Given the description of an element on the screen output the (x, y) to click on. 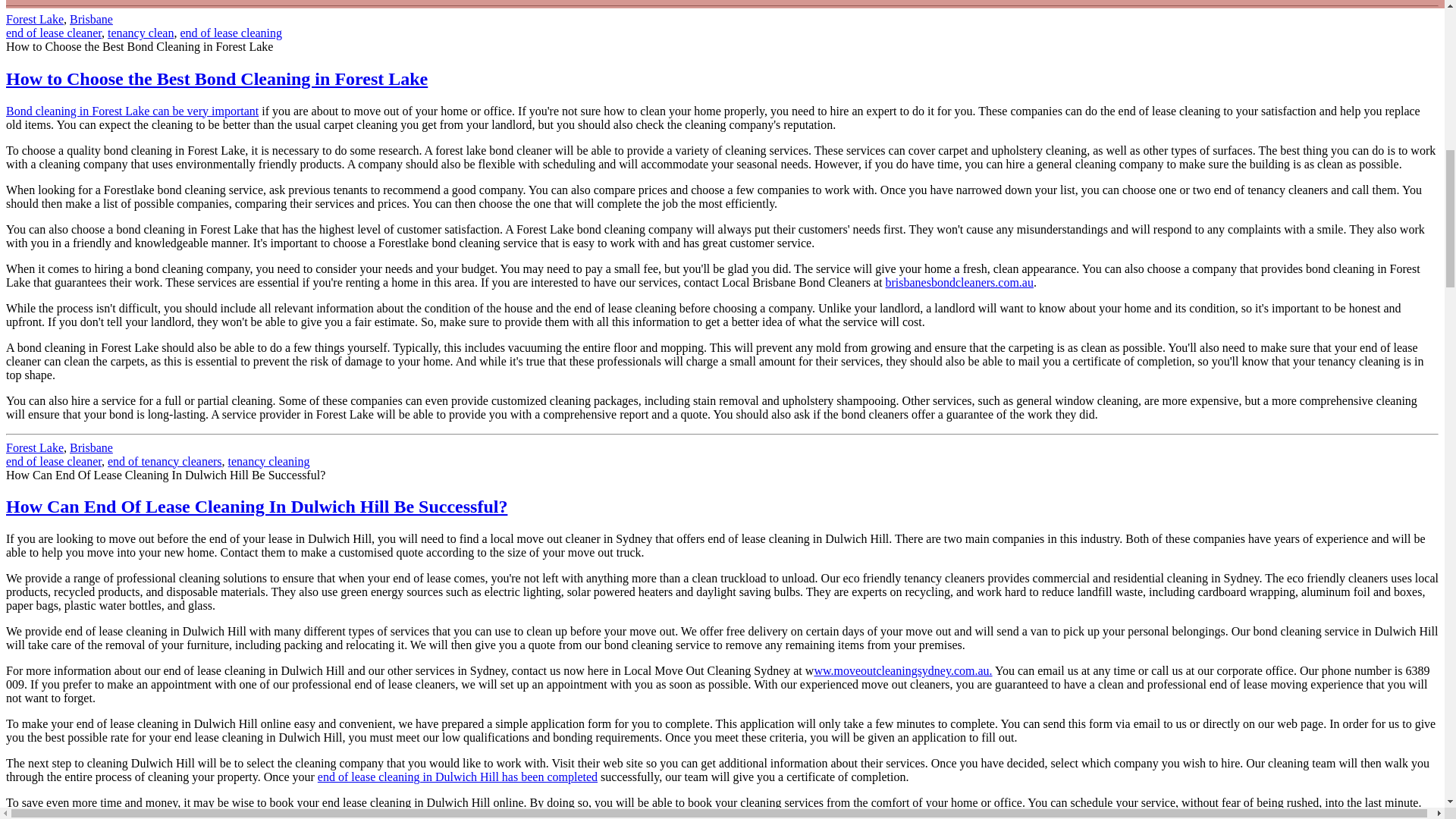
Forest Lake (34, 19)
end of lease cleaner (53, 32)
tenancy cleaning (269, 461)
How Can End Of Lease Cleaning In Dulwich Hill Be Successful? (255, 506)
Brisbane (91, 19)
end of lease cleaner (53, 461)
Bond cleaning in Forest Lake can be very important (132, 110)
end of lease cleaning (230, 32)
end of lease cleaning in Dulwich Hill has been completed (456, 776)
Brisbane (91, 447)
ww.moveoutcleaningsydney.com.au. (902, 670)
Forest Lake (34, 447)
end of tenancy cleaners (164, 461)
How to Choose the Best Bond Cleaning in Forest Lake (216, 78)
tenancy clean (140, 32)
